Given the description of an element on the screen output the (x, y) to click on. 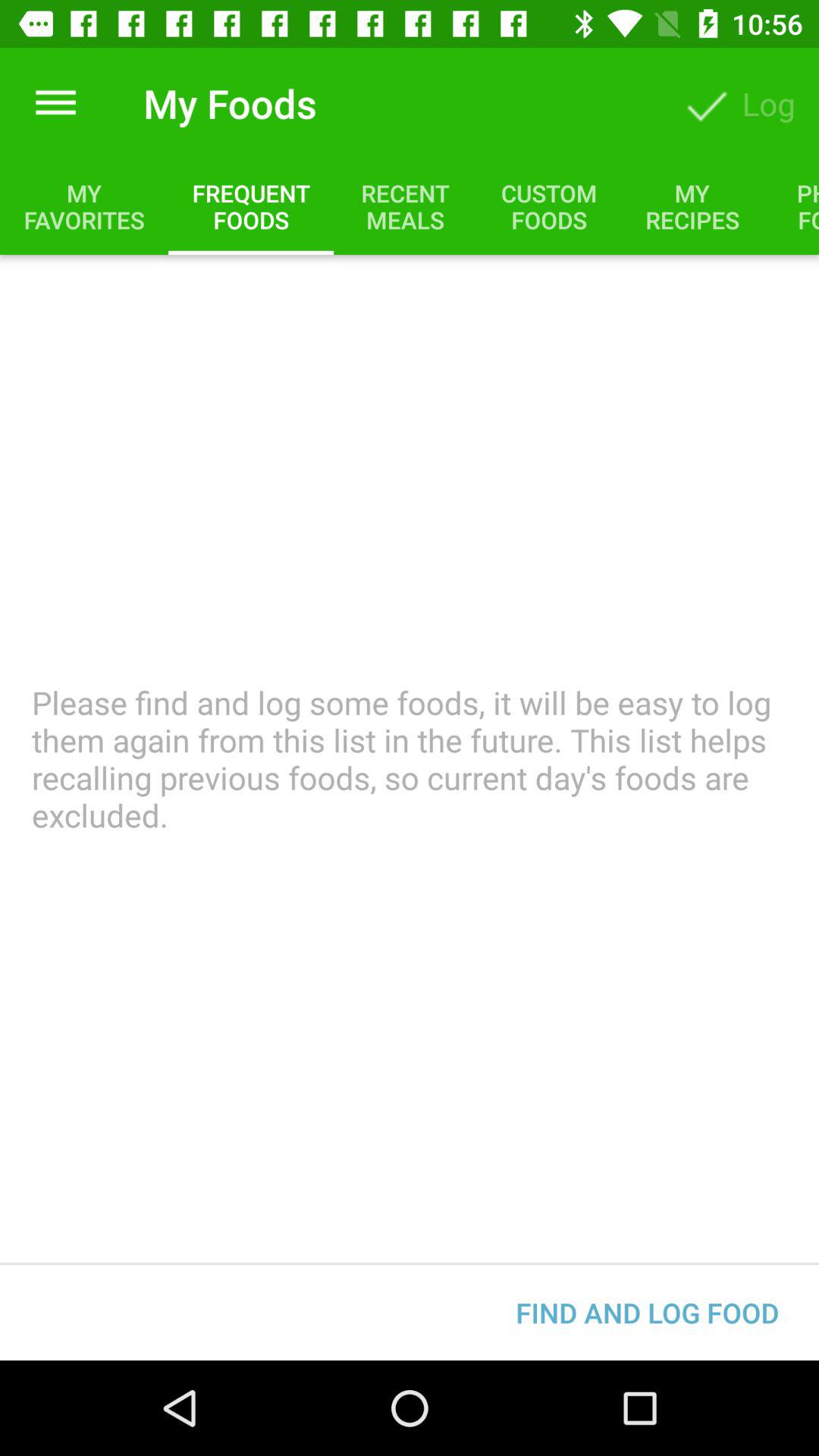
select item above my
favorites (55, 103)
